Given the description of an element on the screen output the (x, y) to click on. 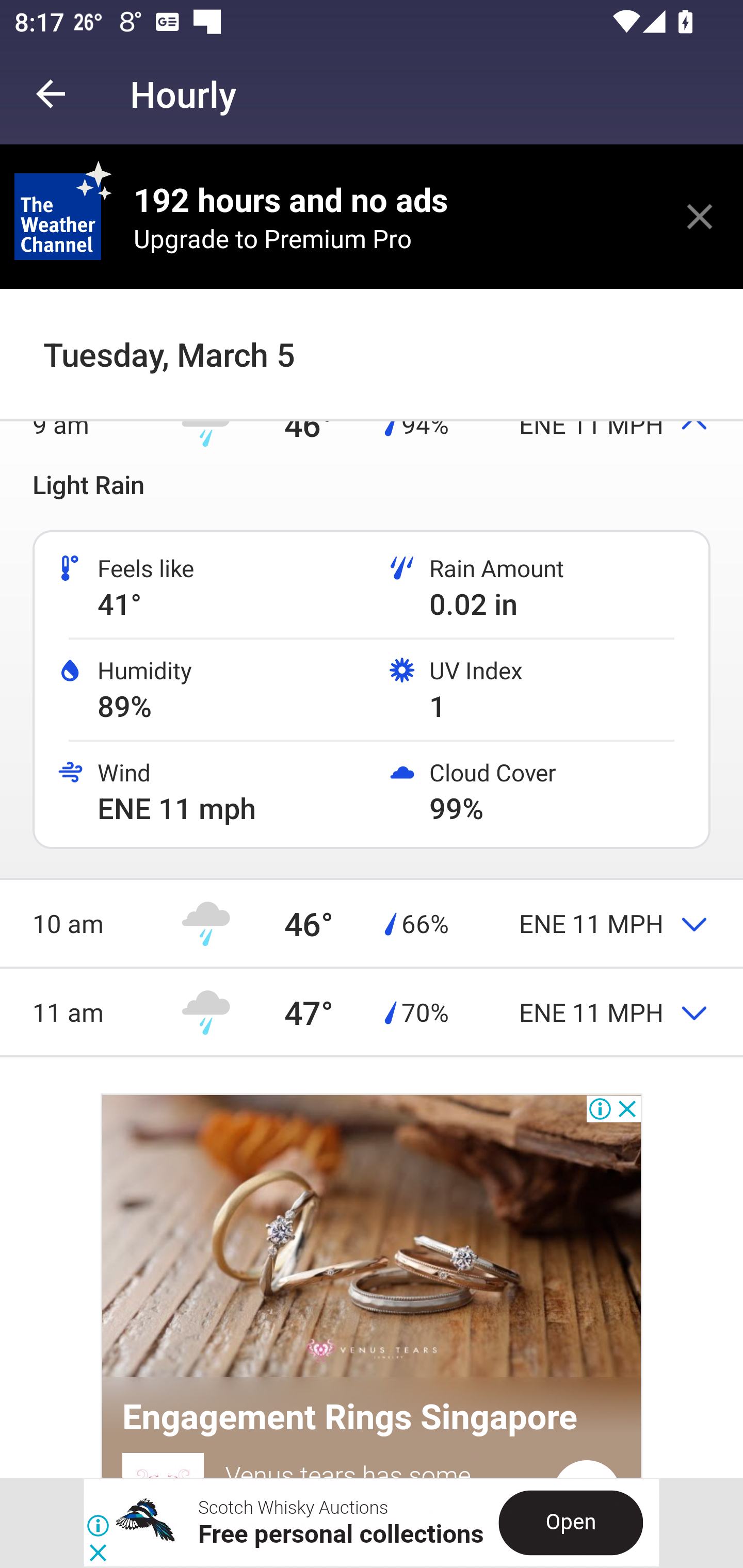
Navigate up (50, 93)
close this (699, 216)
8 am 46° 100% ENE 10 MPH (371, 334)
9 am 46° 94% ENE 11 MPH (371, 424)
10 am 46° 66% ENE 11 MPH (371, 922)
11 am 47° 70% ENE 11 MPH (371, 1012)
venus-tears (371, 1238)
Engagement Rings Singapore (349, 1417)
